Given the description of an element on the screen output the (x, y) to click on. 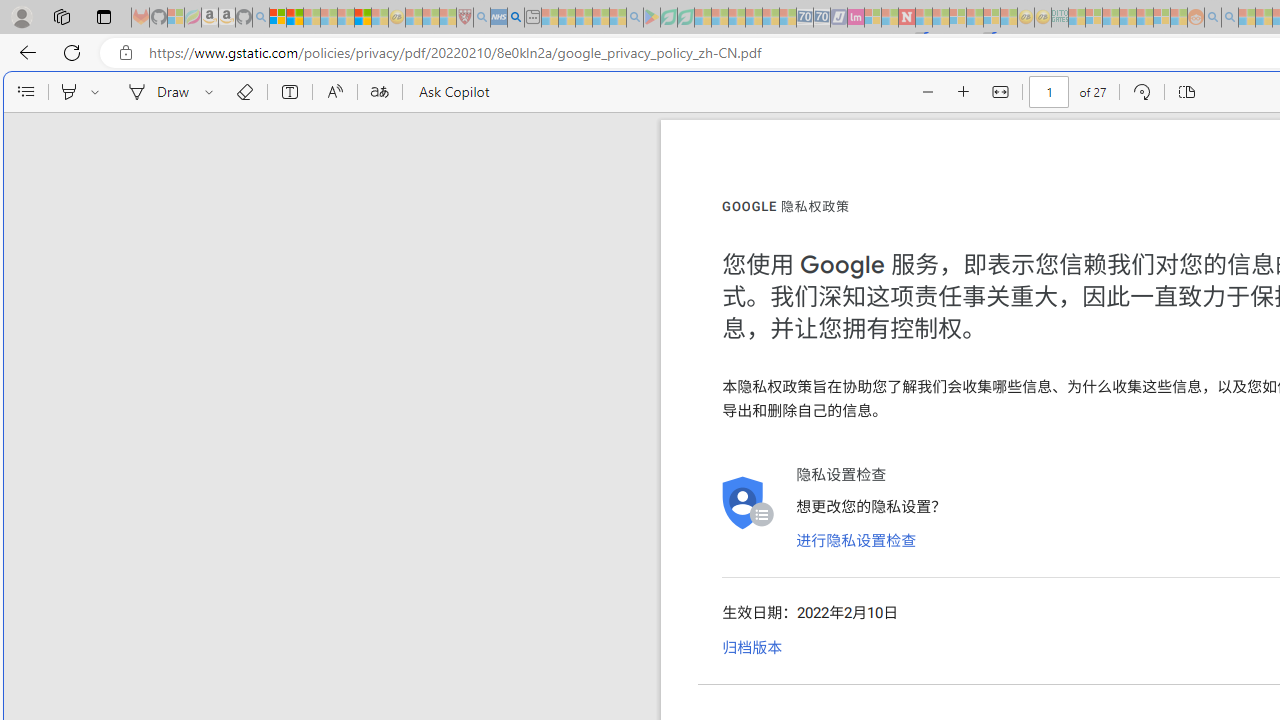
Microsoft Start - Sleeping (1247, 17)
Zoom in (Ctrl+Plus key) (964, 92)
Add text (289, 92)
Utah sues federal government - Search - Sleeping (1229, 17)
Recipes - MSN - Sleeping (413, 17)
Jobs - lastminute.com Investor Portal - Sleeping (855, 17)
New Report Confirms 2023 Was Record Hot | Watch - Sleeping (345, 17)
Ask Copilot (452, 92)
Robert H. Shmerling, MD - Harvard Health - Sleeping (465, 17)
list of asthma inhalers uk - Search - Sleeping (481, 17)
